Given the description of an element on the screen output the (x, y) to click on. 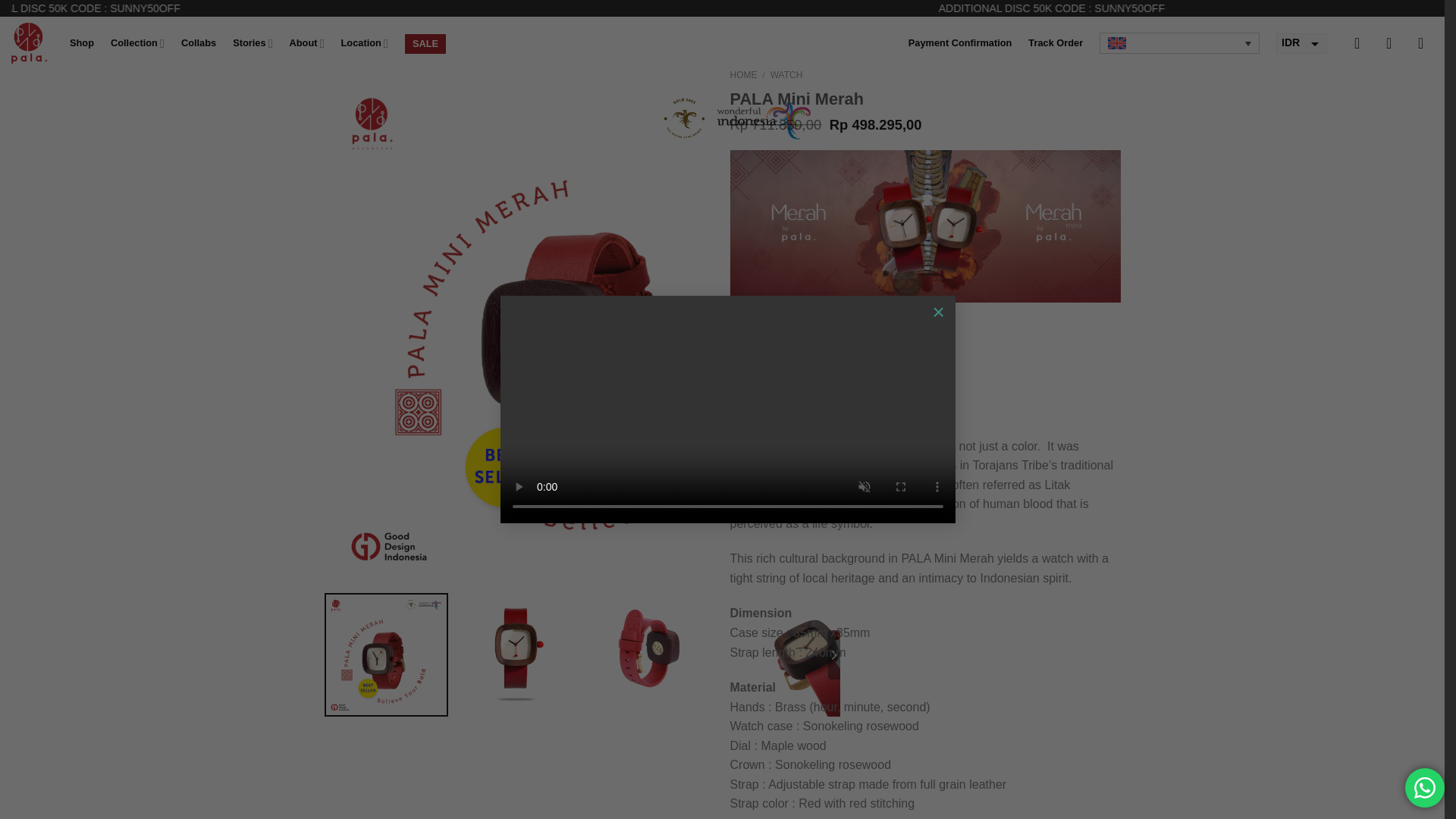
ADD TO CART (837, 358)
WATCH (786, 74)
About (306, 43)
Collabs (197, 42)
Collection (137, 43)
PALA Nusantara (28, 42)
Shop (81, 42)
HOME (743, 74)
Location (364, 43)
Payment Confirmation (959, 42)
- (735, 358)
Stories (252, 43)
SALE (424, 44)
Cart (1362, 42)
